Given the description of an element on the screen output the (x, y) to click on. 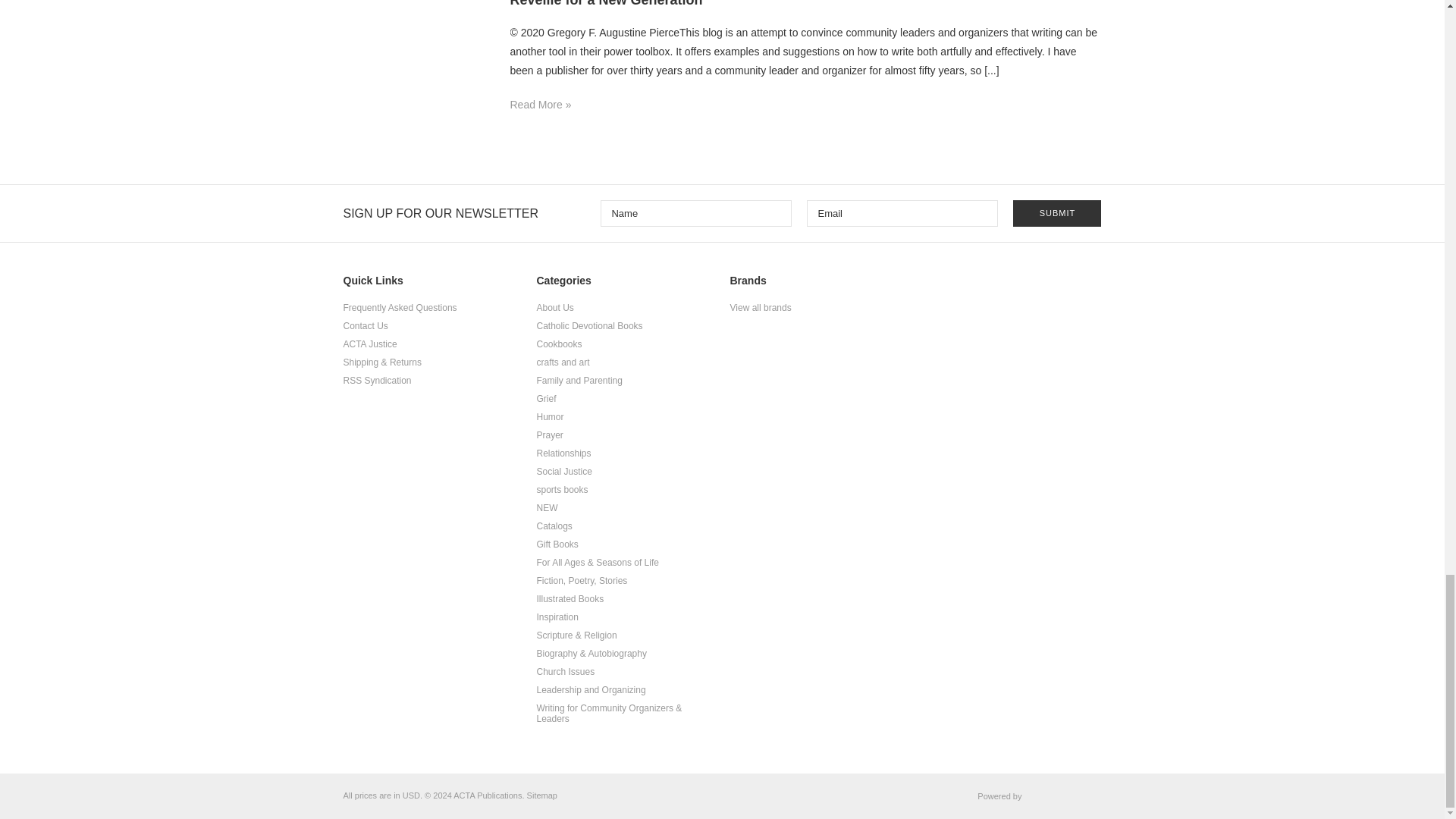
YouTube (1054, 285)
Instagram (1084, 285)
Email (901, 212)
Submit (1056, 212)
Facebook (996, 285)
US Dollars (411, 795)
Twitter (1025, 285)
Name (695, 212)
